Given the description of an element on the screen output the (x, y) to click on. 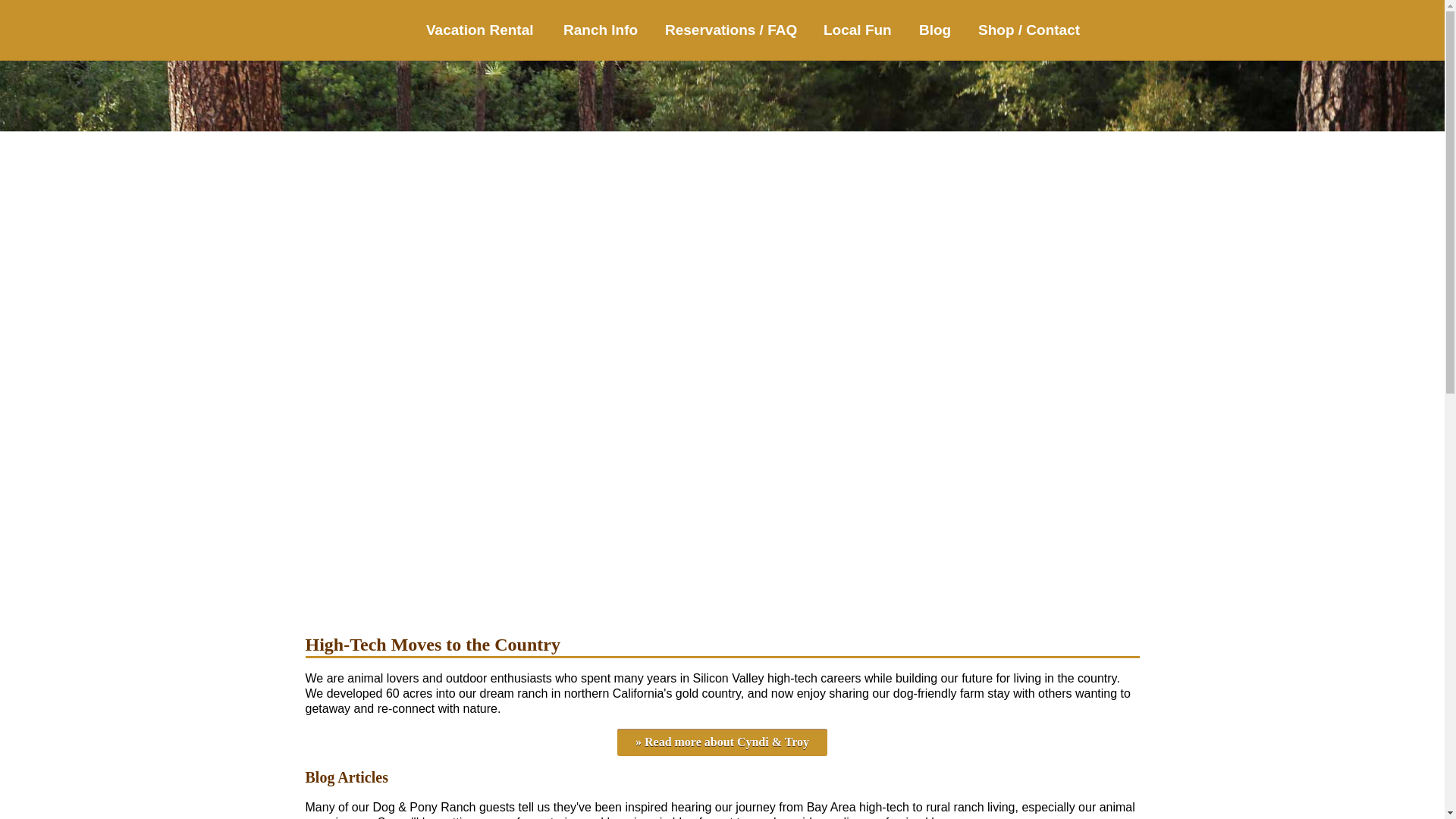
Local Fun (861, 23)
Vacation Rental (485, 23)
Ranch Info (604, 23)
Blog (938, 23)
